Given the description of an element on the screen output the (x, y) to click on. 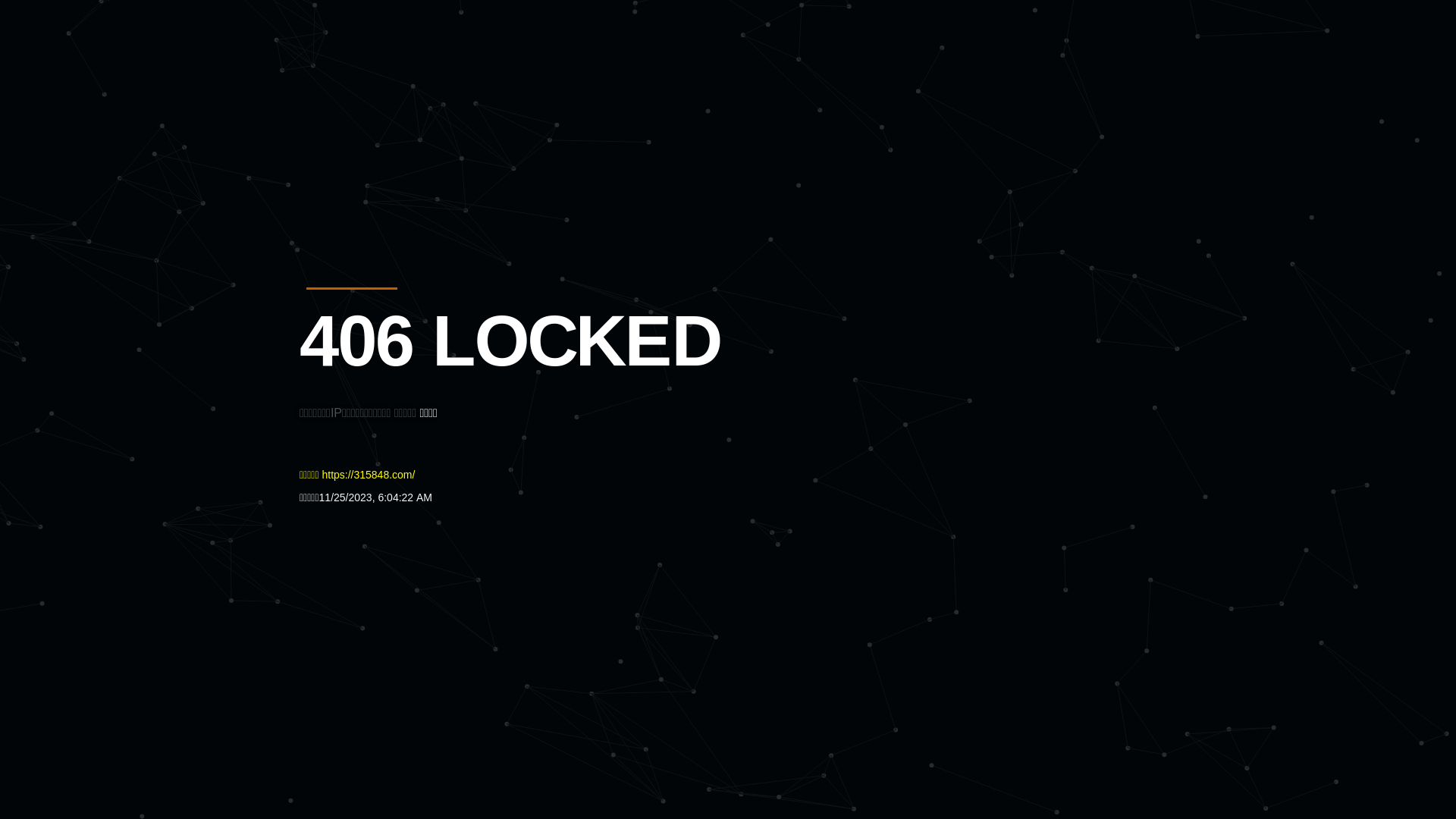
Quatro Element type: text (410, 86)
